Given the description of an element on the screen output the (x, y) to click on. 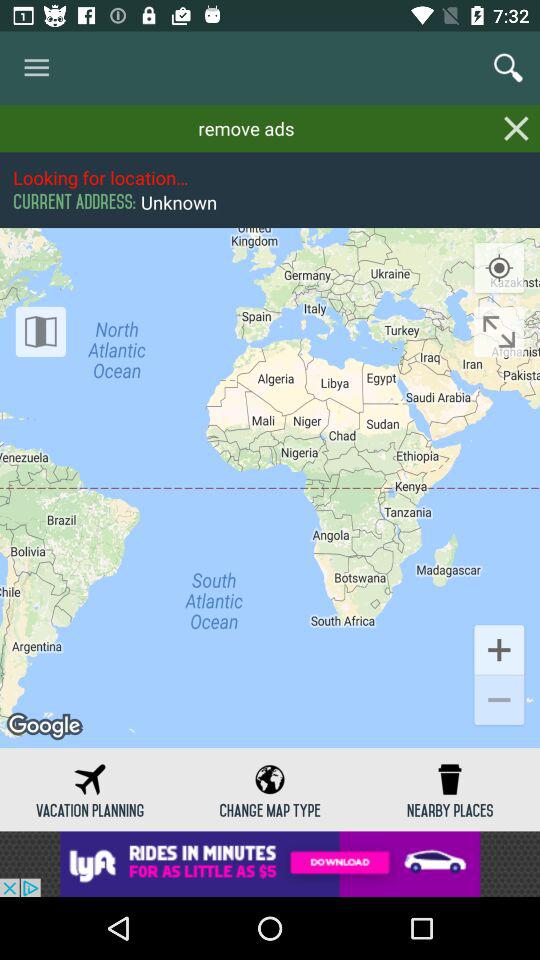
advertisement page (270, 864)
